Given the description of an element on the screen output the (x, y) to click on. 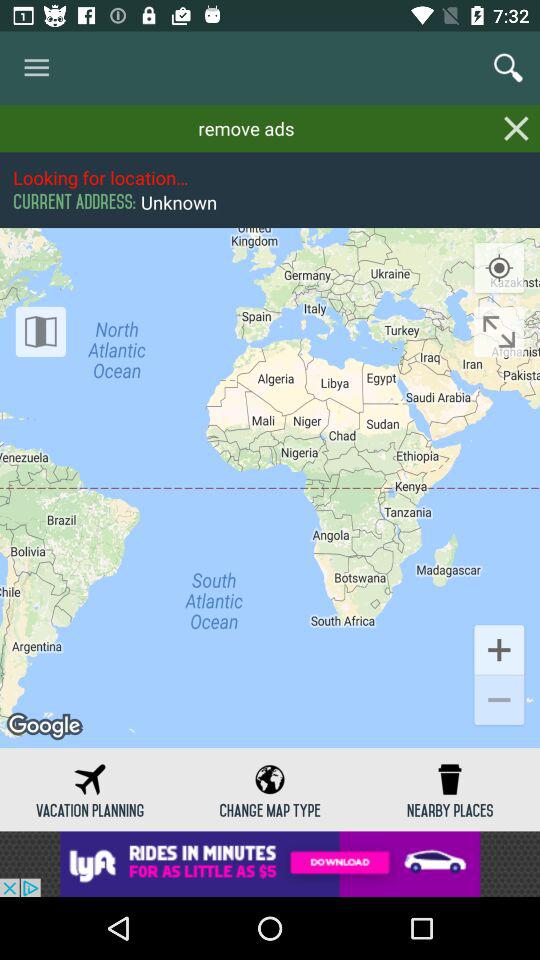
advertisement page (270, 864)
